Given the description of an element on the screen output the (x, y) to click on. 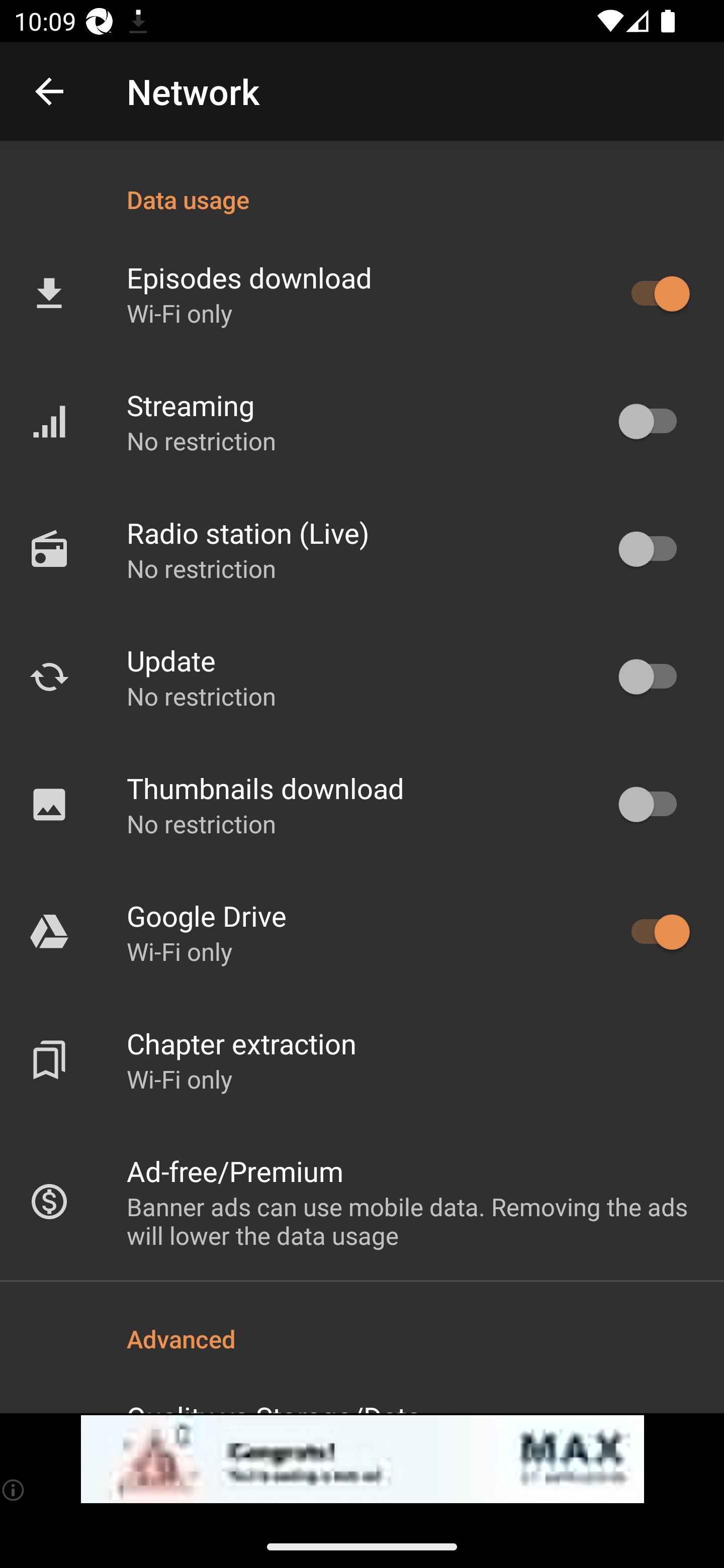
Navigate up (49, 91)
Episodes download Wi-Fi only (362, 293)
Streaming No restriction (362, 421)
Radio station (Live) No restriction (362, 549)
Update No restriction (362, 676)
Thumbnails download No restriction (362, 804)
Google Drive Wi-Fi only (362, 931)
Chapter extraction Wi-Fi only (362, 1059)
app-monetization (362, 1459)
(i) (14, 1489)
